Given the description of an element on the screen output the (x, y) to click on. 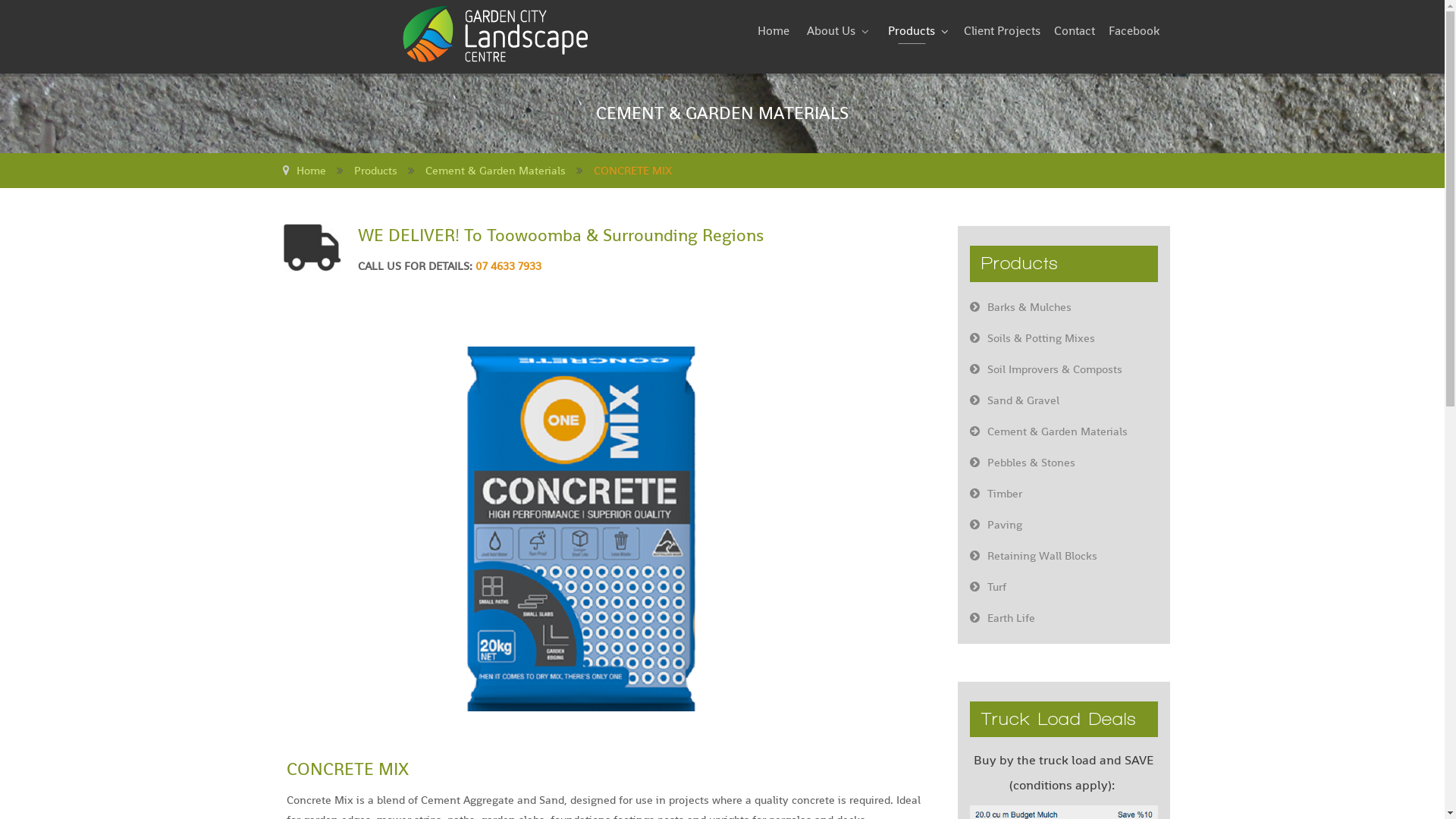
Earth Life Element type: text (1063, 617)
WE DELIVER! To Toowoomba & Surrounding Regions Element type: text (605, 248)
Cement & Garden Materials Element type: text (1063, 431)
Pebbles & Stones Element type: text (1063, 462)
Retaining Wall Blocks Element type: text (1063, 555)
Facebook Element type: text (1133, 30)
Client Projects Element type: text (1001, 30)
Contact Element type: text (1074, 30)
Products Element type: text (374, 170)
Barks & Mulches Element type: text (1063, 306)
Soil Improvers & Composts Element type: text (1063, 368)
Sand & Gravel Element type: text (1063, 400)
Turf Element type: text (1063, 586)
About Us Element type: text (835, 30)
Products Element type: text (917, 30)
Home Element type: text (772, 30)
Timber Element type: text (1063, 493)
Soils & Potting Mixes Element type: text (1063, 337)
Home Element type: text (310, 170)
Paving Element type: text (1063, 524)
Cement & Garden Materials Element type: text (494, 170)
